Given the description of an element on the screen output the (x, y) to click on. 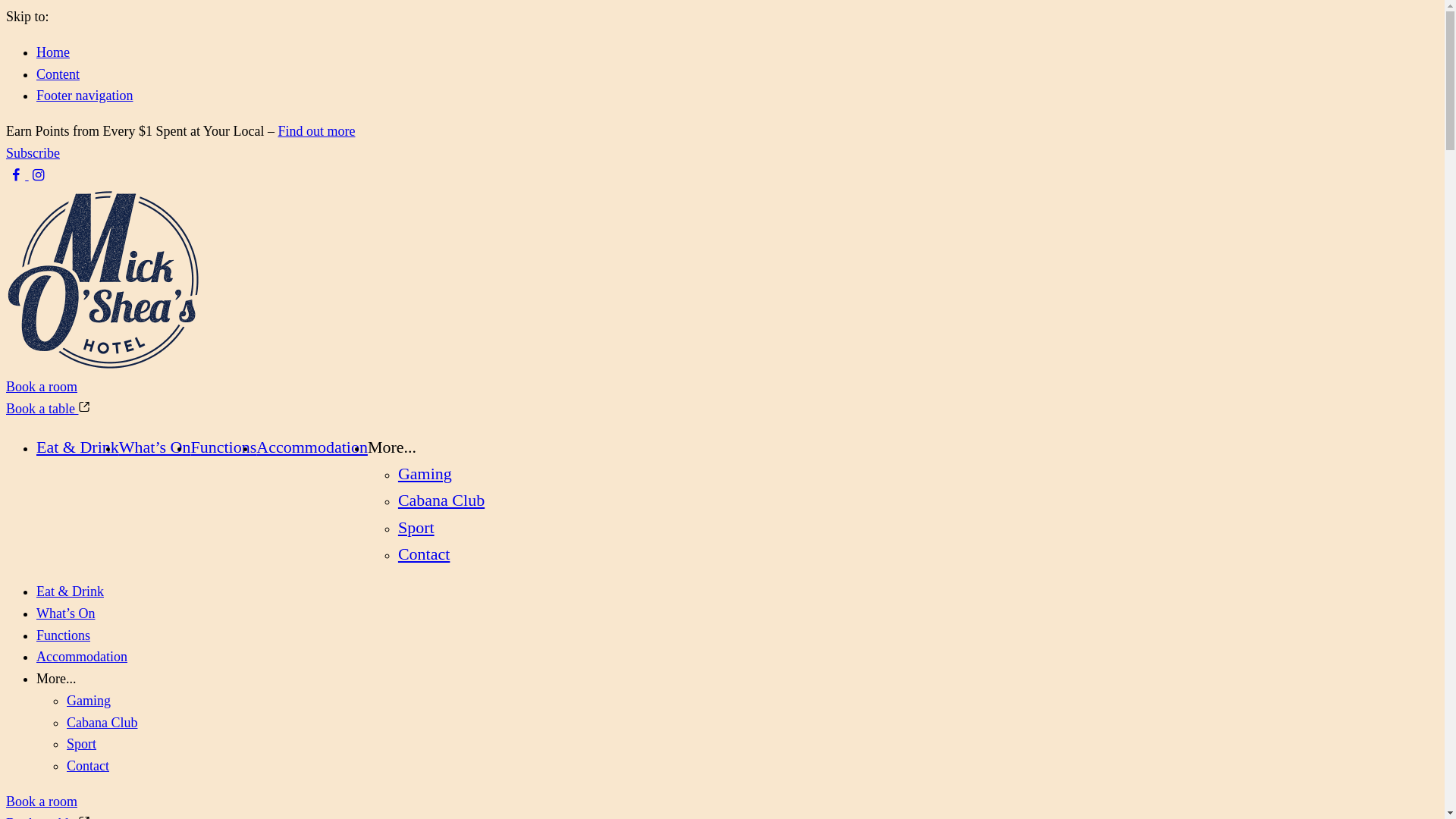
More... Element type: text (391, 446)
Book a room Element type: text (41, 386)
Functions Element type: text (223, 446)
Content Element type: text (57, 73)
Book a table Element type: text (48, 408)
Footer navigation Element type: text (84, 95)
Sport Element type: text (81, 743)
Accommodation Element type: text (311, 446)
Gaming Element type: text (88, 700)
Find out more Element type: text (315, 130)
Cabana Club Element type: text (441, 499)
Eat & Drink Element type: text (77, 446)
Eat & Drink Element type: text (69, 591)
Contact Element type: text (423, 553)
Gaming Element type: text (424, 473)
Sport Element type: text (416, 526)
Home Element type: text (52, 51)
Cabana Club Element type: text (101, 722)
Contact Element type: text (87, 765)
More... Element type: text (56, 678)
Subscribe Element type: text (32, 152)
Accommodation Element type: text (81, 656)
Book a room Element type: text (41, 801)
Functions Element type: text (63, 635)
